Given the description of an element on the screen output the (x, y) to click on. 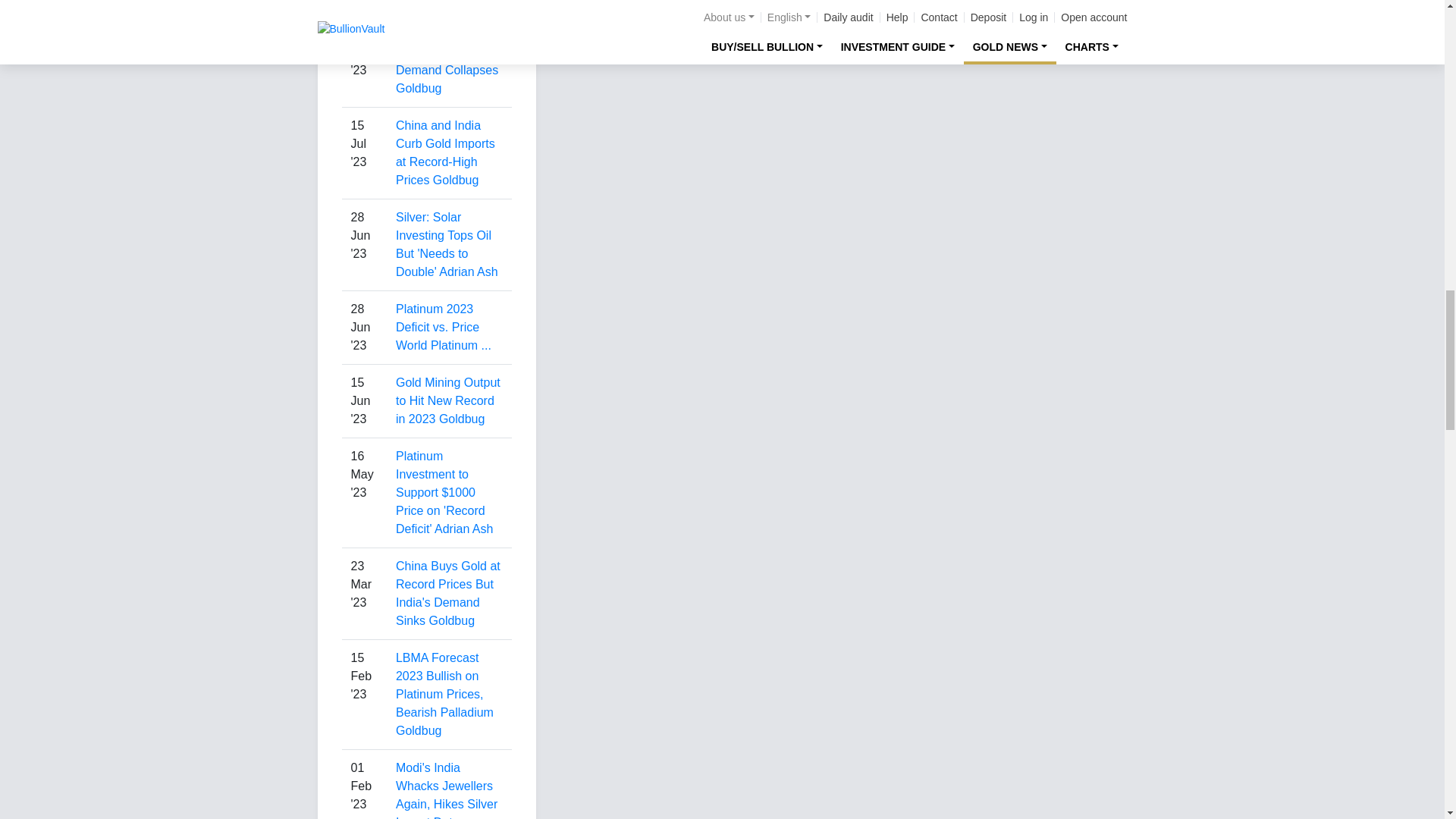
View user profile. (445, 1)
